Given the description of an element on the screen output the (x, y) to click on. 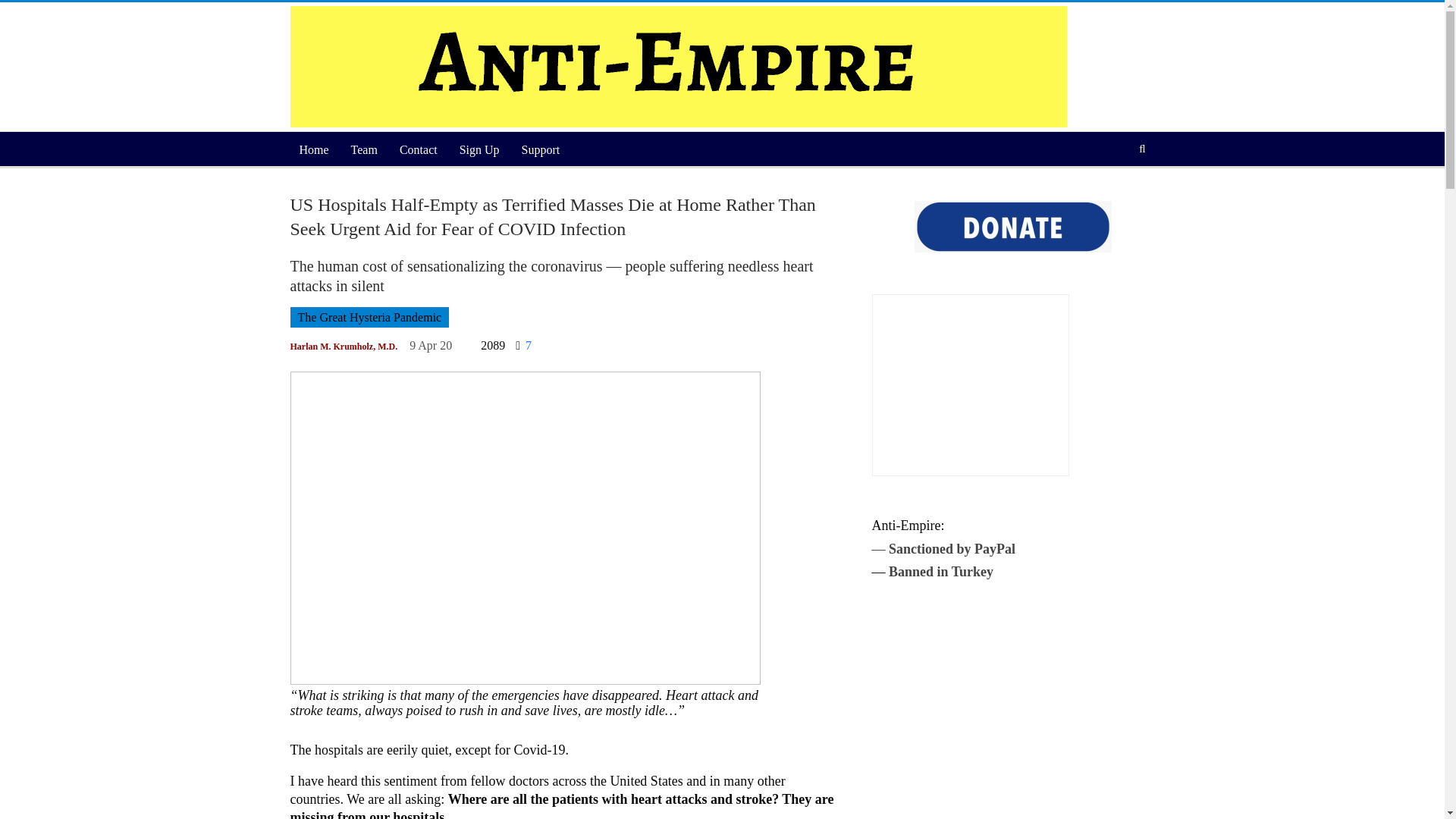
The Great Hysteria Pandemic (368, 317)
Home (313, 149)
Browse Author Articles (343, 346)
Harlan M. Krumholz, M.D. (343, 346)
Support (540, 149)
Banned in Turkey (940, 571)
Sign Up (478, 149)
Contact (418, 149)
Team (364, 149)
